Given the description of an element on the screen output the (x, y) to click on. 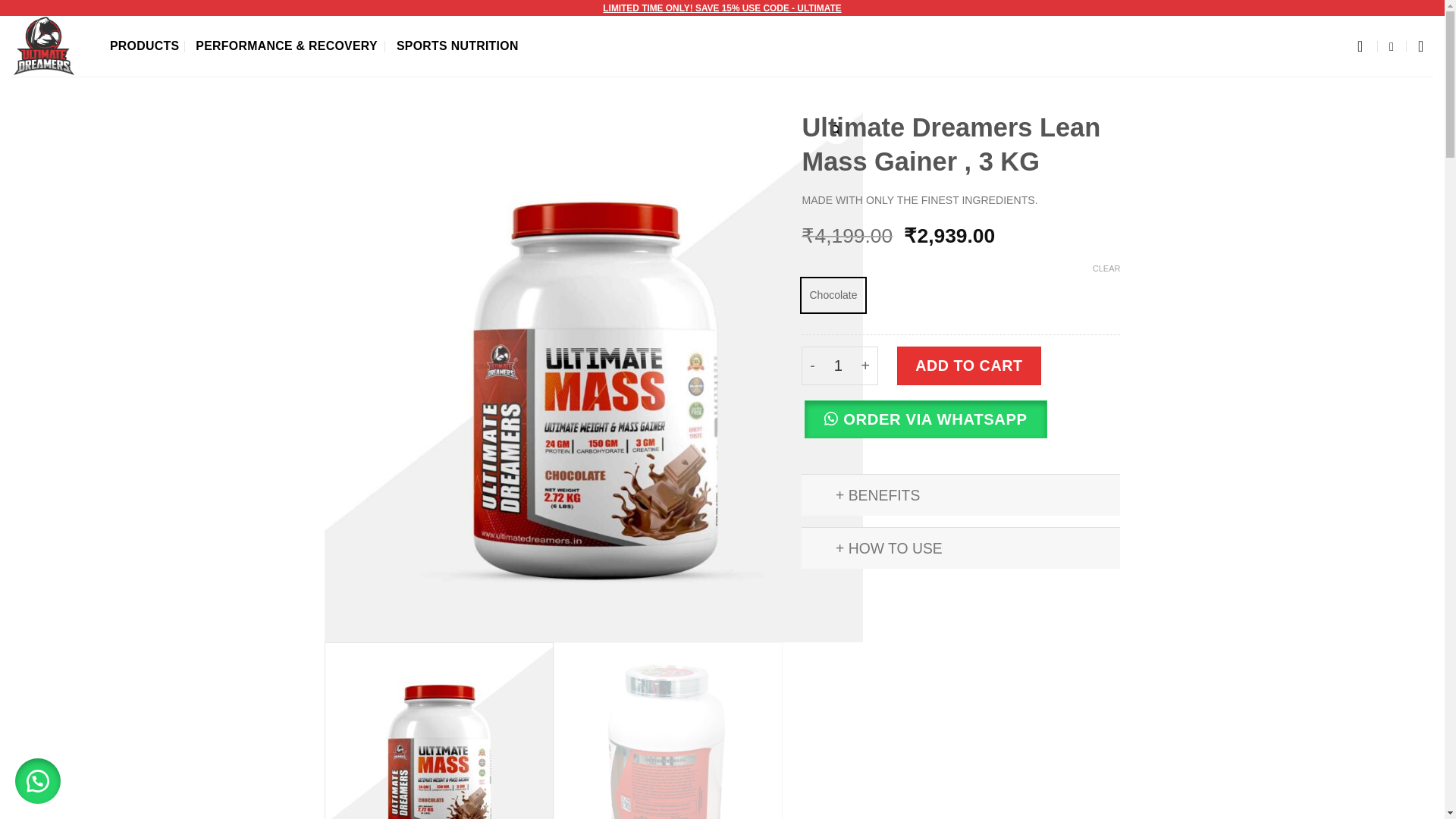
Chocolate (833, 295)
Ultimate Dreamers - No.1 Supplement Store in Punjab (49, 45)
Ultimate Mass (437, 730)
PRODUCTS (144, 45)
CLEAR (1107, 267)
ORDER VIA WHATSAPP (925, 419)
SPORTS NUTRITION (458, 45)
ADD TO CART (968, 365)
5 (666, 730)
ORDER VIA WHATSAPP (960, 427)
